Given the description of an element on the screen output the (x, y) to click on. 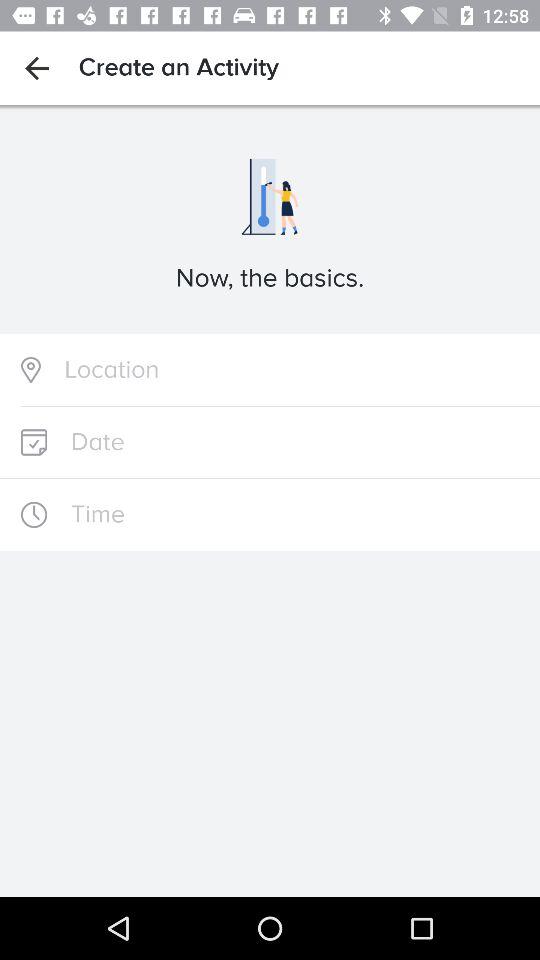
add date (270, 442)
